Given the description of an element on the screen output the (x, y) to click on. 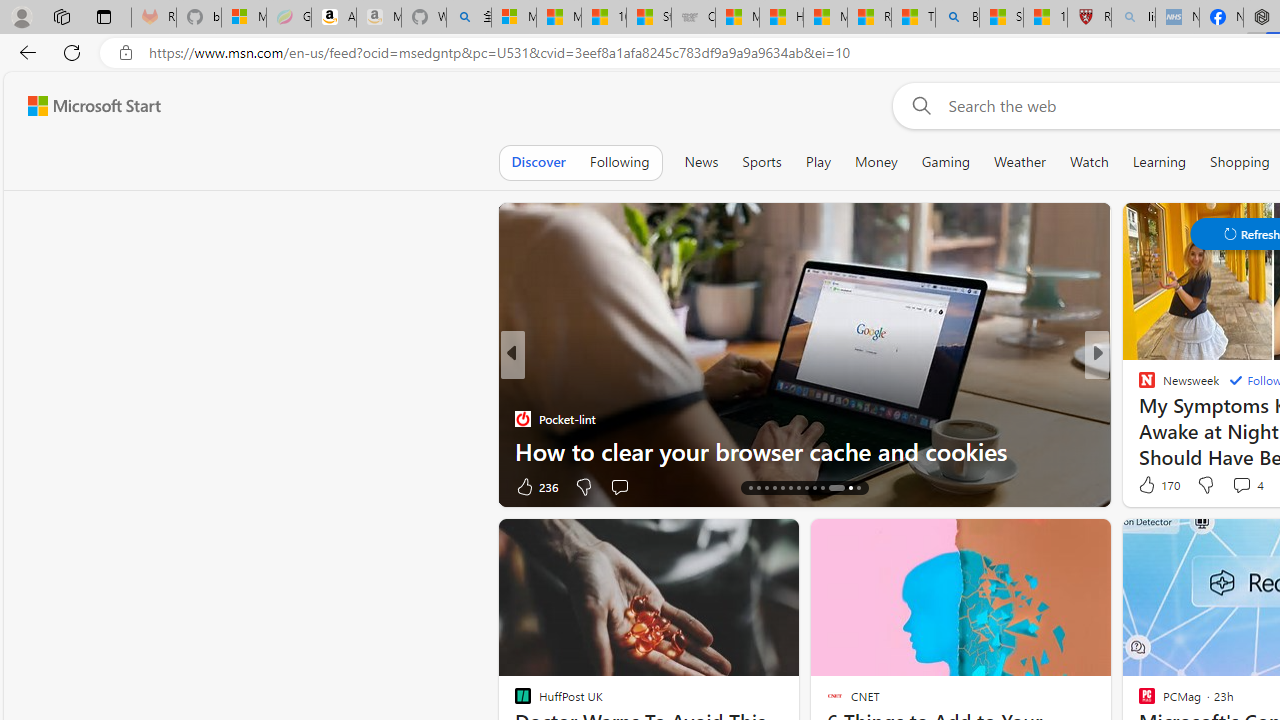
View comments 85 Comment (11, 485)
View comments 34 Comment (1244, 486)
Learning (1159, 162)
Science - MSN (1001, 17)
Watch (1089, 162)
170 Like (1157, 484)
AutomationID: tab-24 (829, 487)
View comments 73 Comment (11, 485)
Start the conversation (619, 485)
Learning (1159, 161)
View comments 4 Comment (1241, 485)
Money (875, 161)
Sports (761, 162)
